Given the description of an element on the screen output the (x, y) to click on. 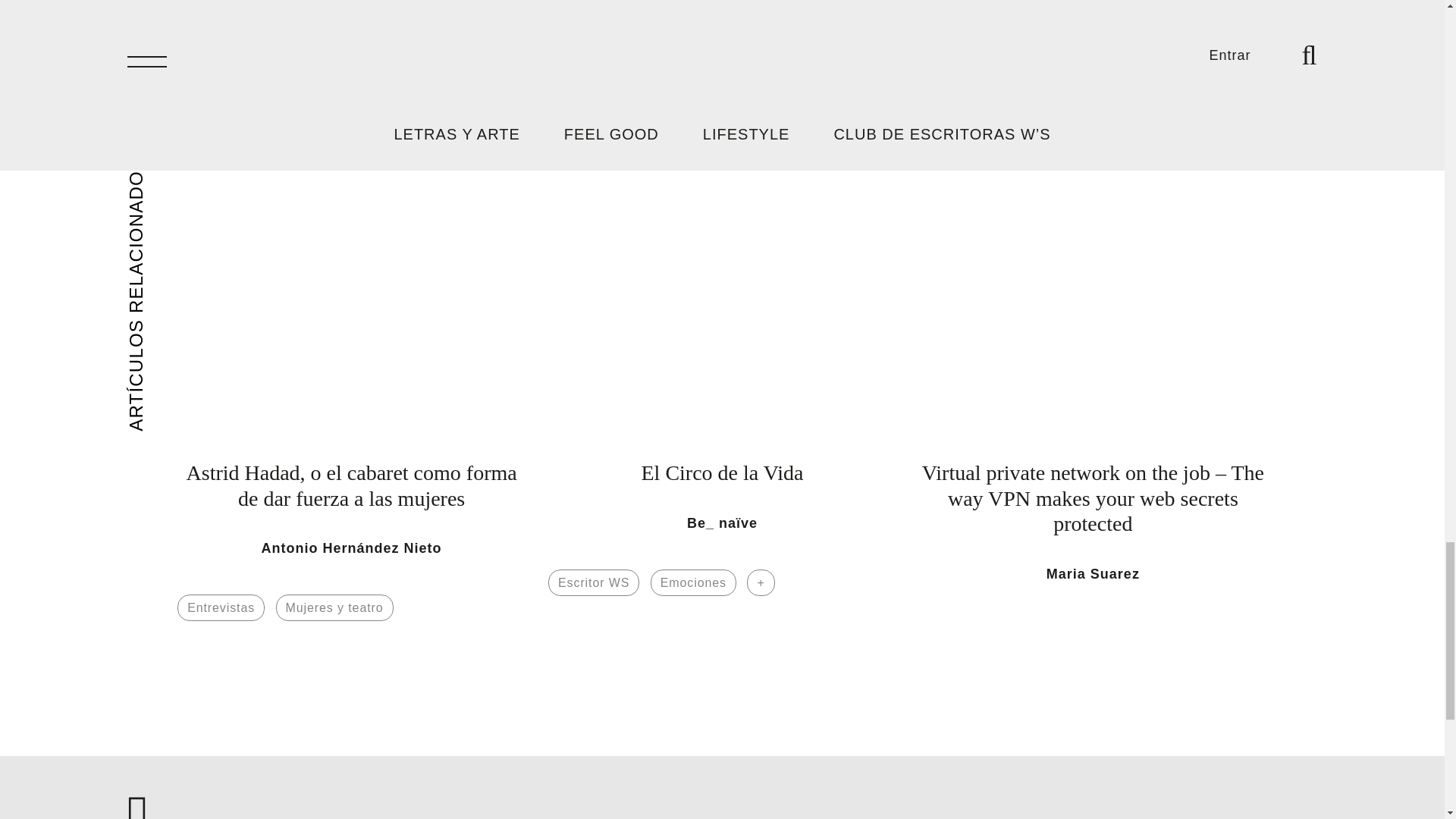
Entrevistas (220, 607)
